Given the description of an element on the screen output the (x, y) to click on. 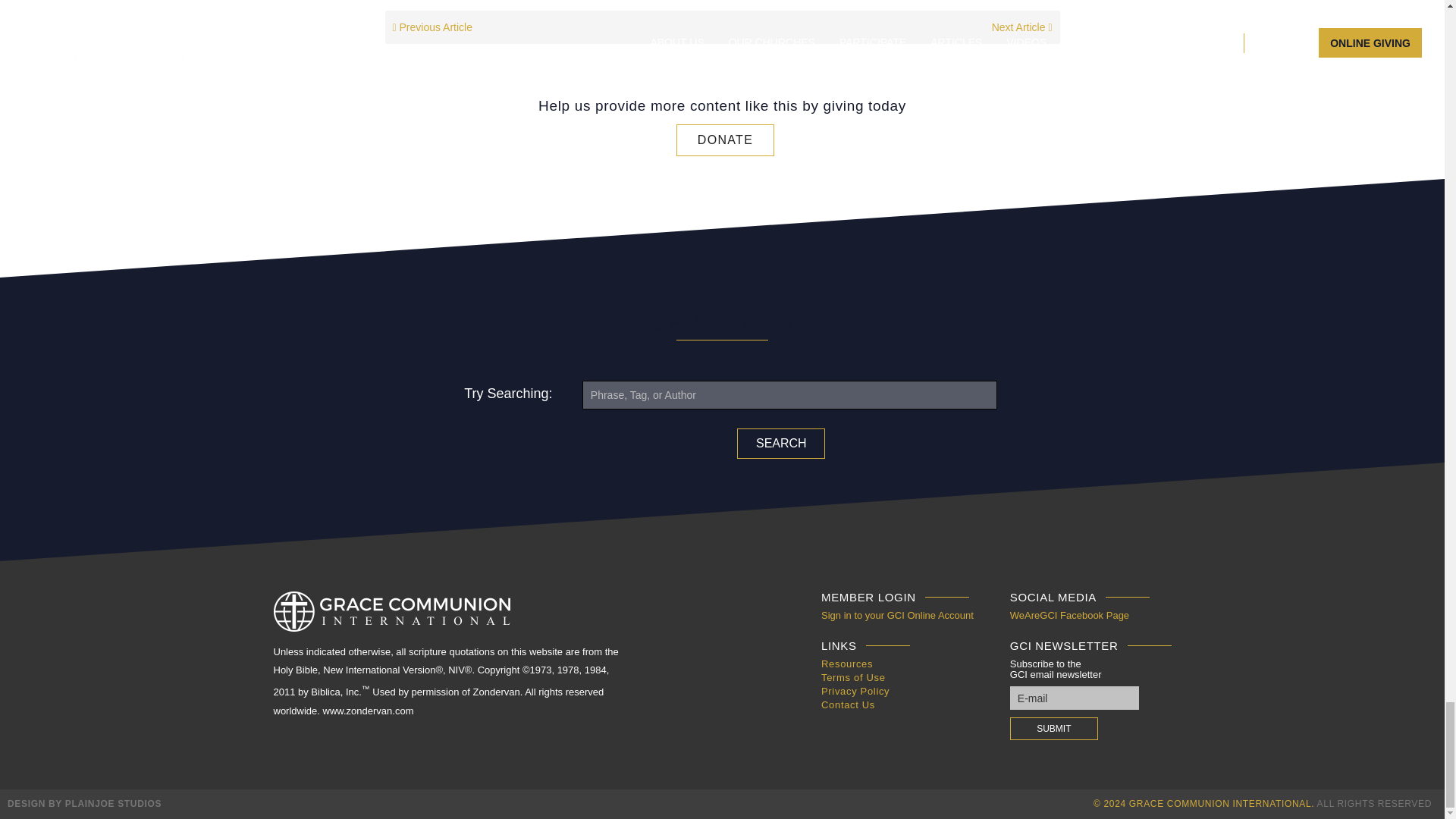
Search (780, 443)
Design by Plain Joe Studios (84, 803)
Submit (1053, 728)
